Given the description of an element on the screen output the (x, y) to click on. 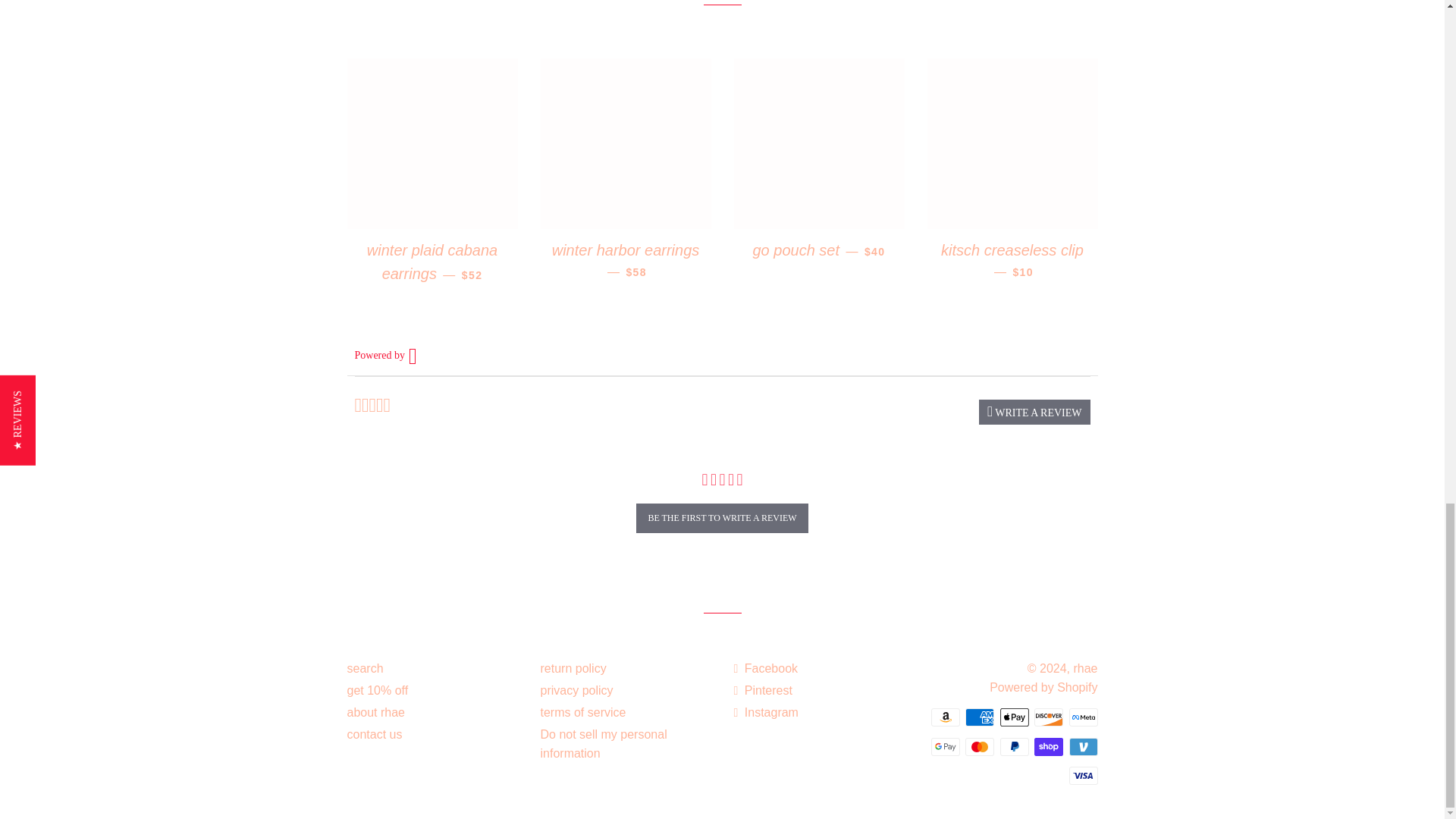
rhae on Facebook (765, 667)
Mastercard (979, 746)
PayPal (1012, 746)
Apple Pay (1012, 717)
Discover (1047, 717)
American Express (979, 717)
Meta Pay (1082, 717)
rhae on Instagram (765, 712)
Venmo (1082, 746)
Shop Pay (1047, 746)
